Given the description of an element on the screen output the (x, y) to click on. 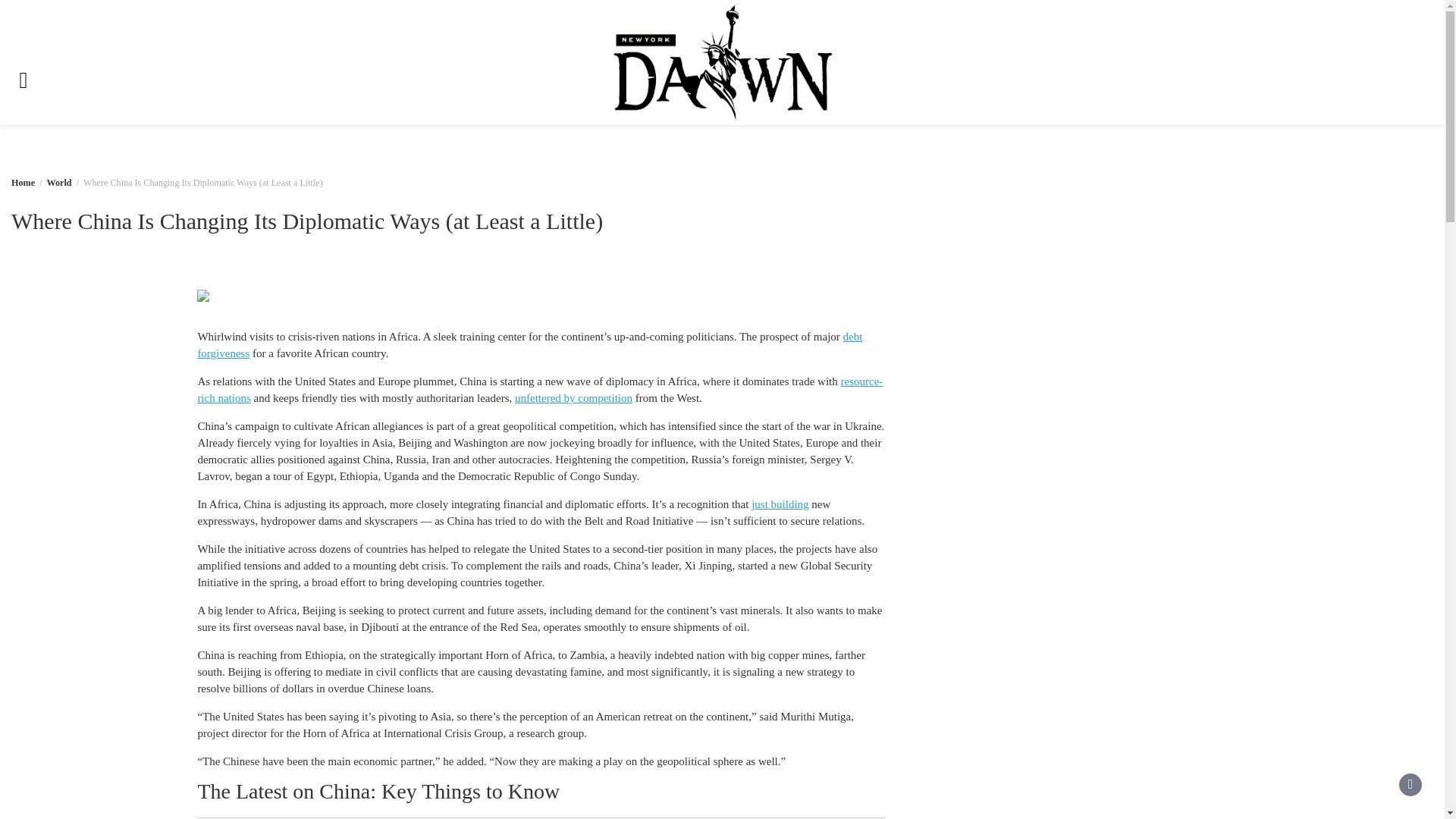
World (58, 182)
just building (779, 503)
resource-rich nations (539, 389)
Home (22, 182)
unfettered by competition (573, 398)
debt forgiveness (528, 344)
